Given the description of an element on the screen output the (x, y) to click on. 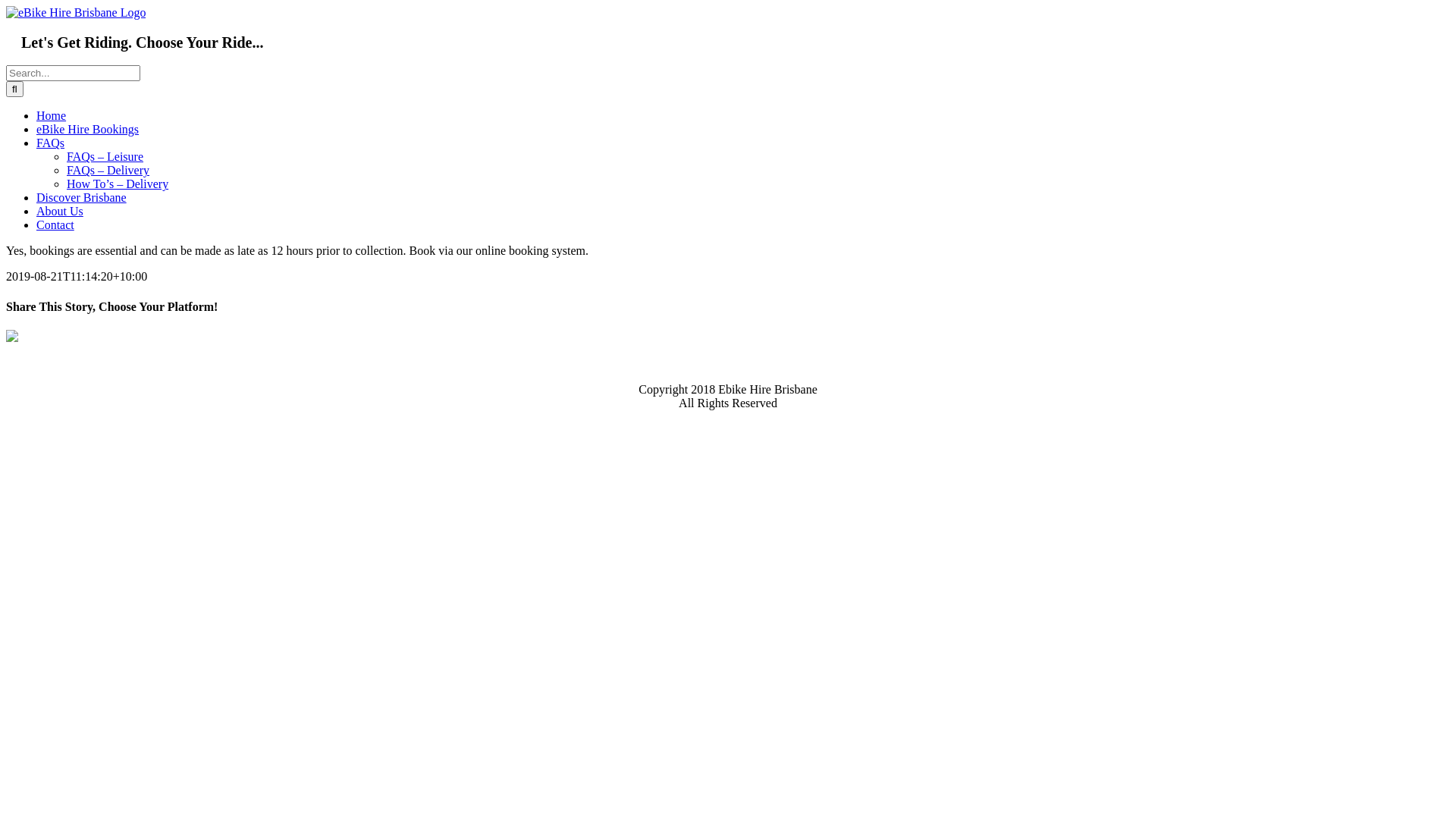
Discover Brisbane Element type: text (81, 197)
About Us Element type: text (59, 210)
eBike Hire Bookings Element type: text (87, 128)
Skip to content Element type: text (5, 5)
Contact Element type: text (55, 224)
Home Element type: text (50, 115)
FAQs Element type: text (50, 142)
